Given the description of an element on the screen output the (x, y) to click on. 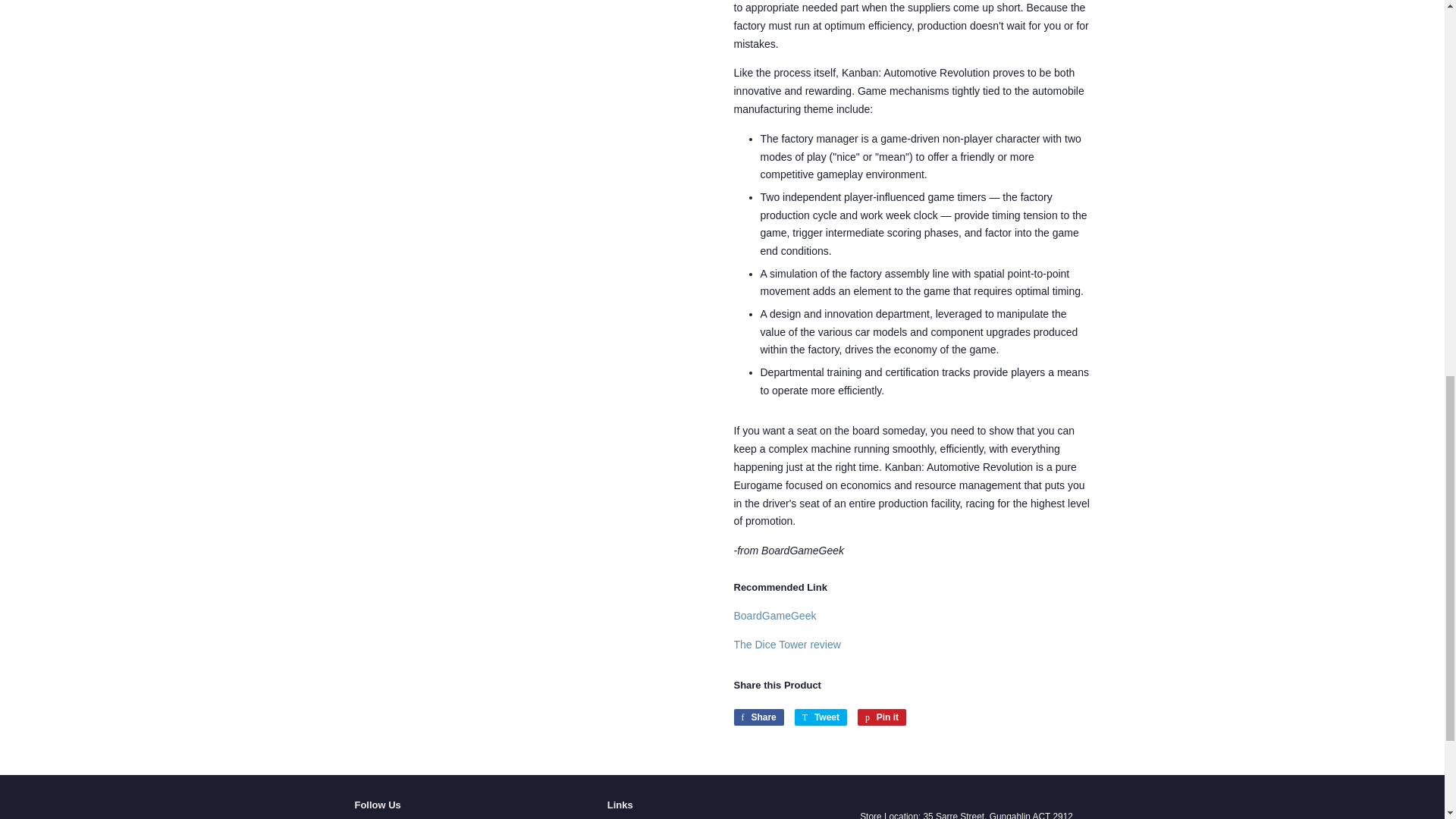
Tweet on Twitter (820, 717)
Pin on Pinterest (881, 717)
The Dice Tower review - Kanban (787, 644)
Share on Facebook (758, 717)
BGG - Kanban (774, 615)
